Given the description of an element on the screen output the (x, y) to click on. 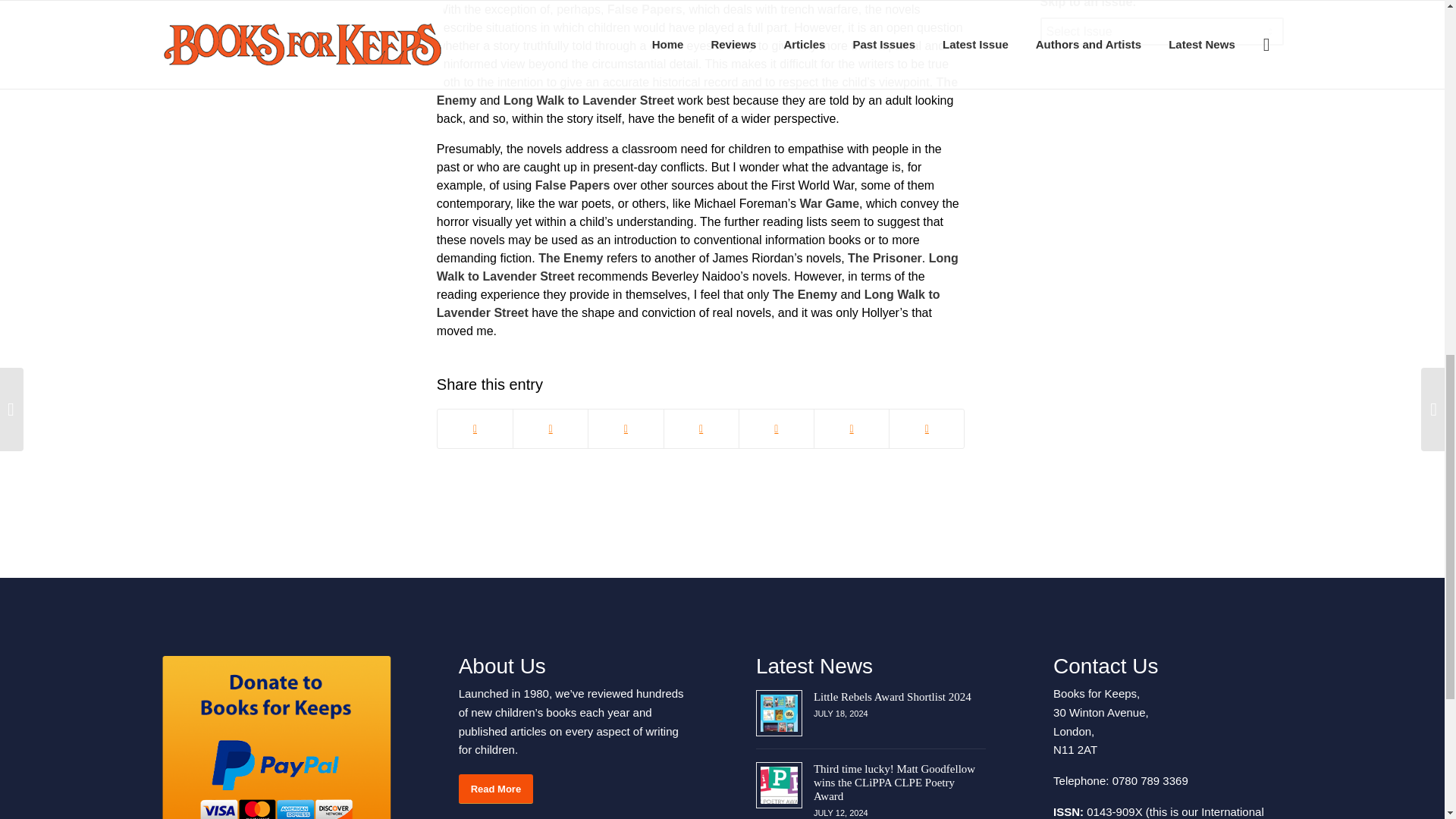
PayPal - The safer, easier way to pay online! (275, 736)
Read More (495, 788)
Link to: Little Rebels Award Shortlist 2024 (892, 696)
Little Rebels Award Shortlist 2024 (892, 696)
Link to: Little Rebels Award Shortlist 2024 (778, 713)
